Given the description of an element on the screen output the (x, y) to click on. 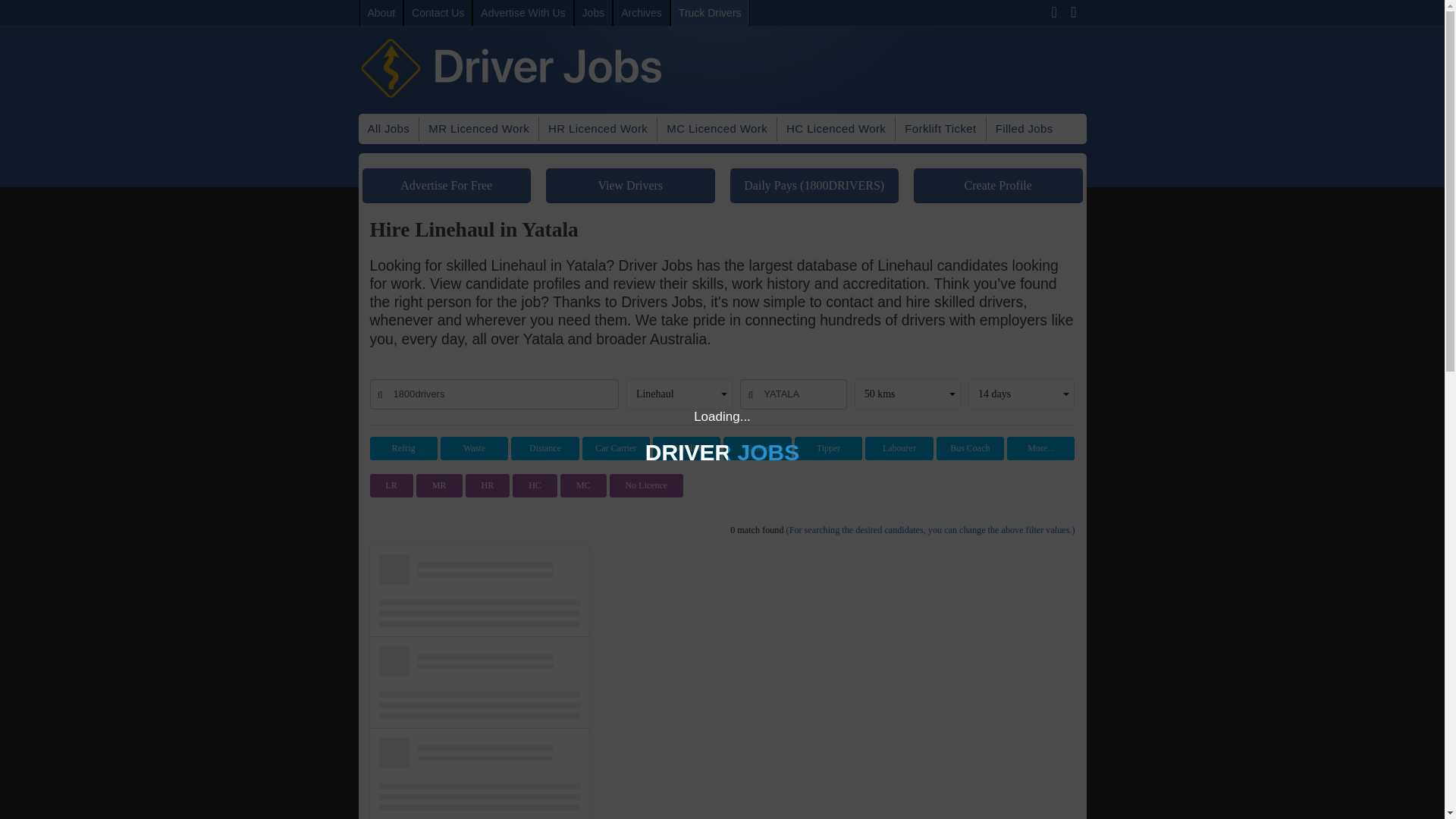
50 kms (907, 394)
MR Licenced Work (478, 128)
HR Licenced Work (597, 128)
Forklift Ticket (939, 128)
HC Licenced Work (835, 128)
About (381, 12)
All Jobs (387, 128)
YATALA (792, 394)
Contact Us (437, 12)
Advertise For Free (446, 185)
